Given the description of an element on the screen output the (x, y) to click on. 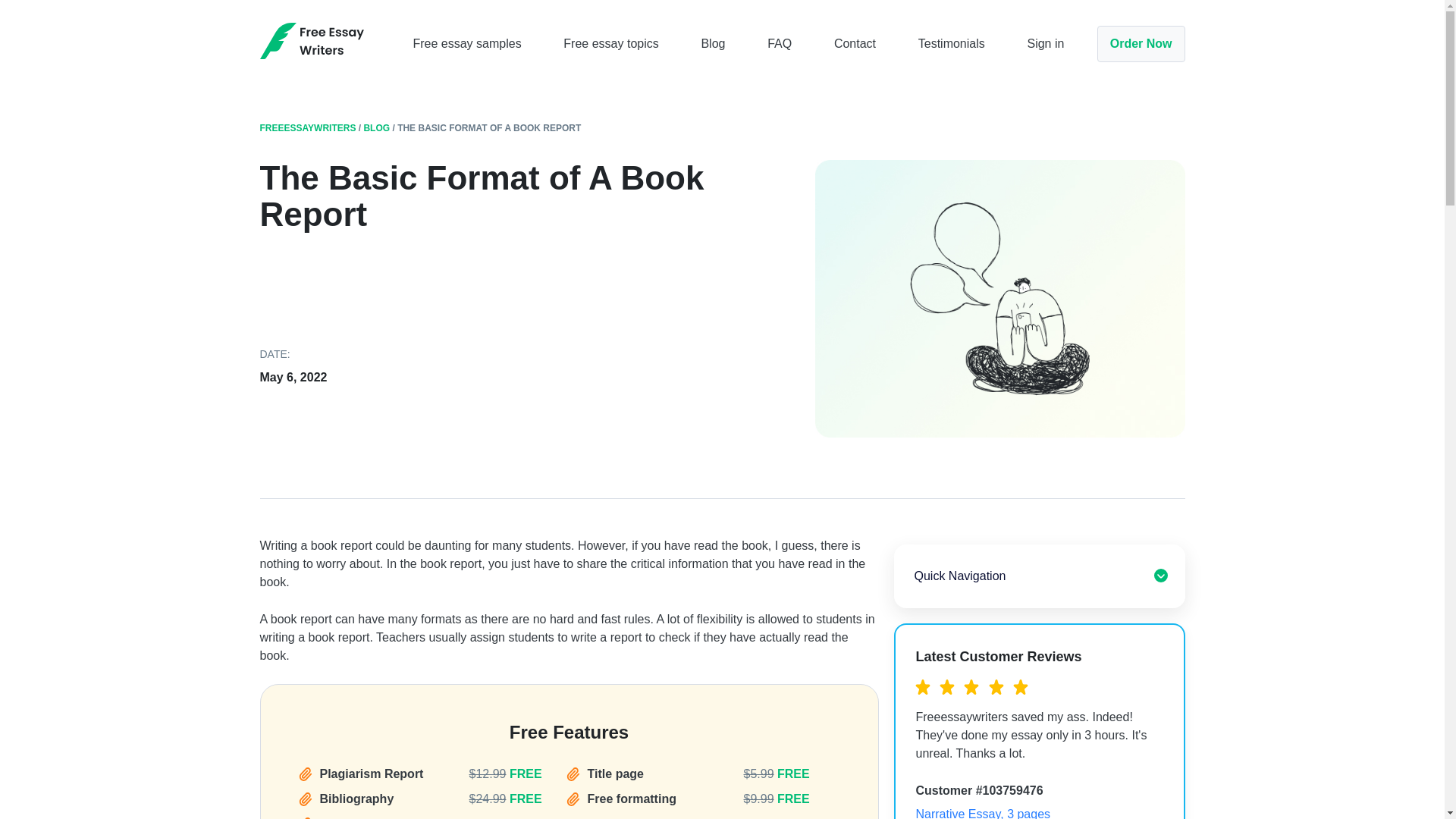
FAQ (779, 42)
BLOG (376, 127)
Order Now (1141, 43)
Sign in (1045, 42)
Testimonials (951, 42)
Free essay samples (466, 42)
Blog (712, 42)
Contact (855, 42)
Free essay topics (610, 42)
FREEESSAYWRITERS (307, 127)
